Given the description of an element on the screen output the (x, y) to click on. 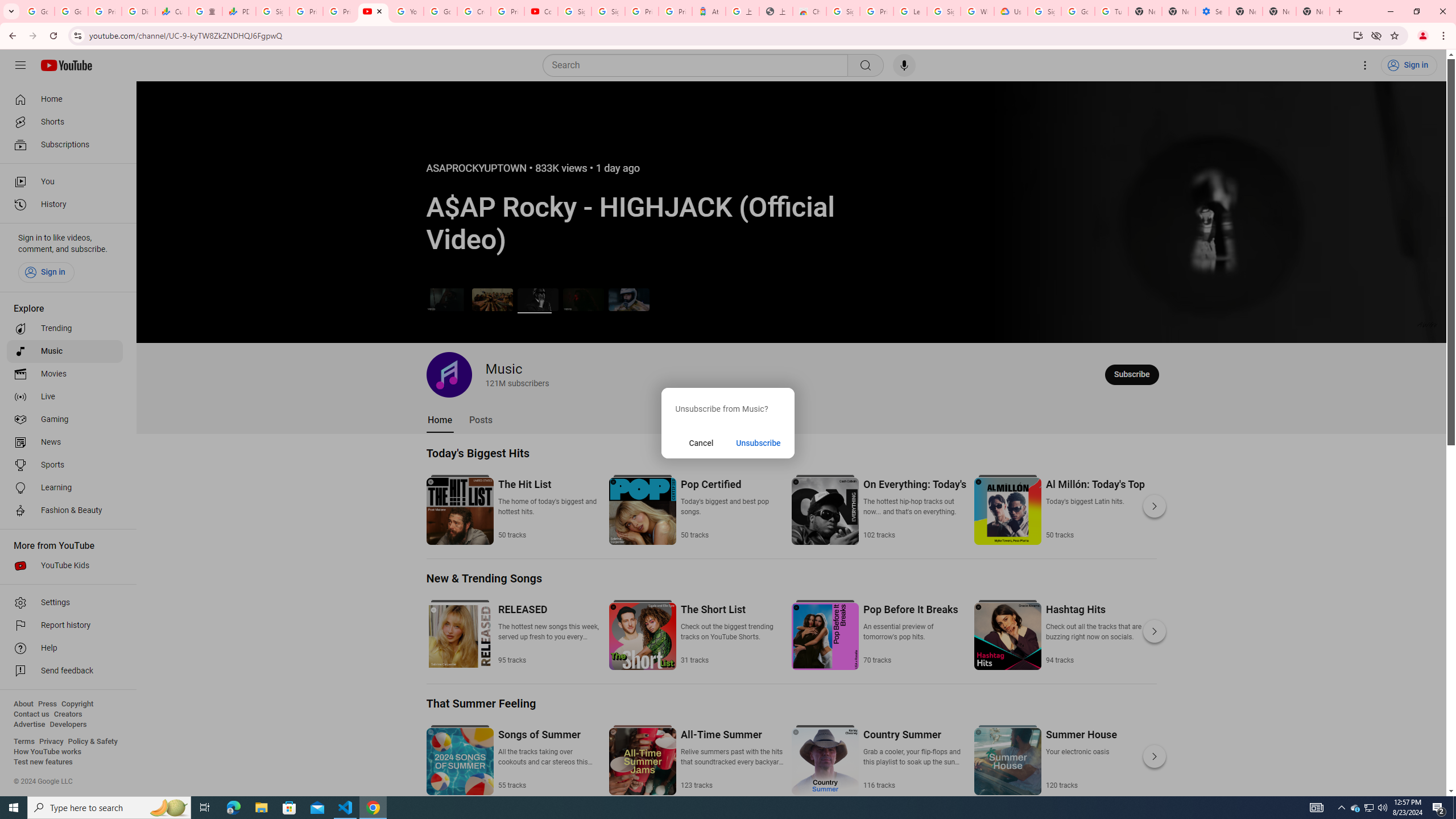
Pop Certified Today's biggest and best pop songs. 50 tracks (731, 508)
Sign in - Google Accounts (1043, 11)
That Summer Feeling (480, 703)
Atour Hotel - Google hotels (708, 11)
A$AP Rocky - HIGHJACK (Official Video) (537, 299)
Chrome Web Store (809, 11)
